Given the description of an element on the screen output the (x, y) to click on. 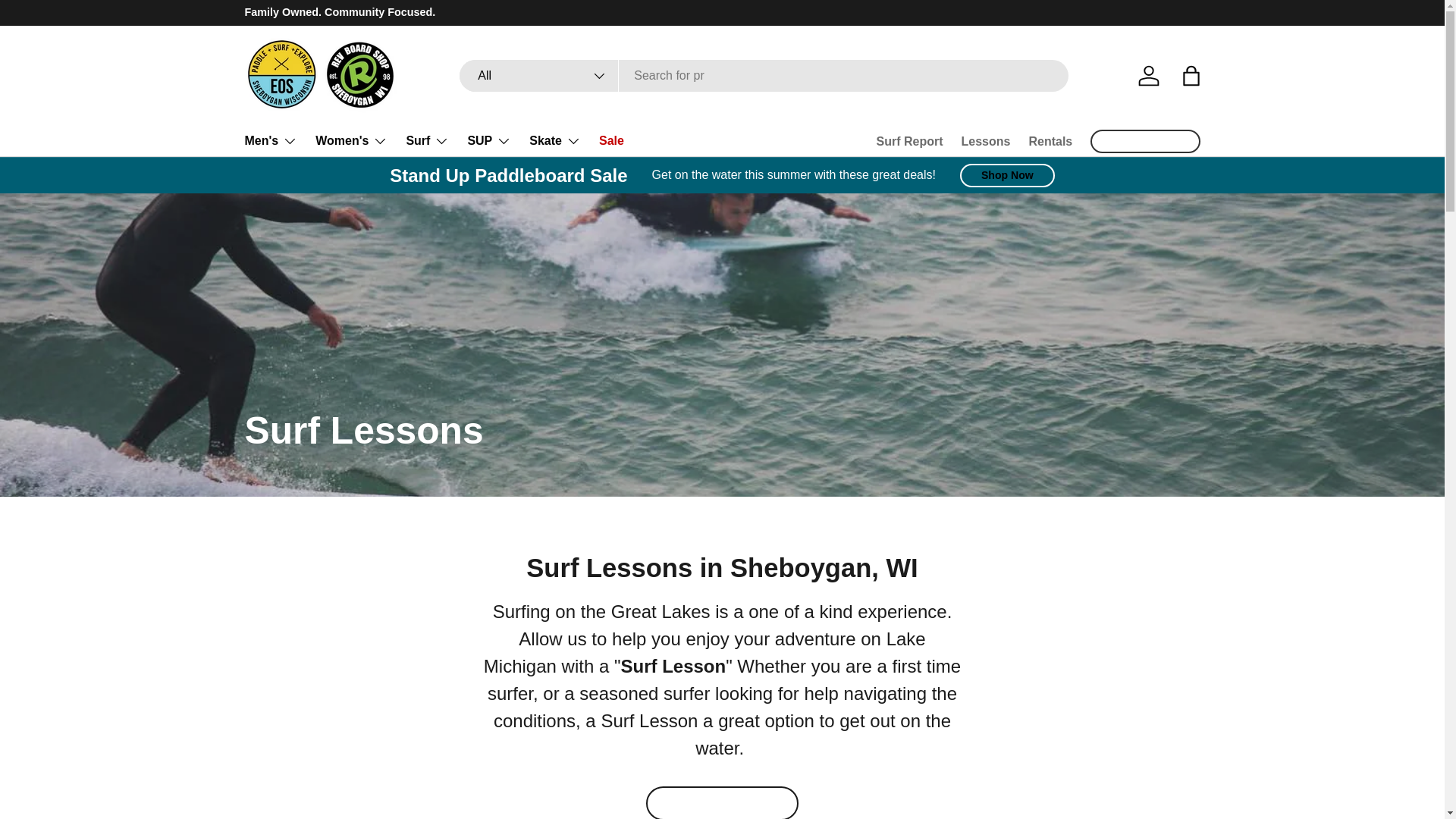
Men's (270, 141)
Log in (1147, 75)
Women's (351, 141)
All (539, 75)
Bag (1190, 75)
Skip to content (69, 21)
